Given the description of an element on the screen output the (x, y) to click on. 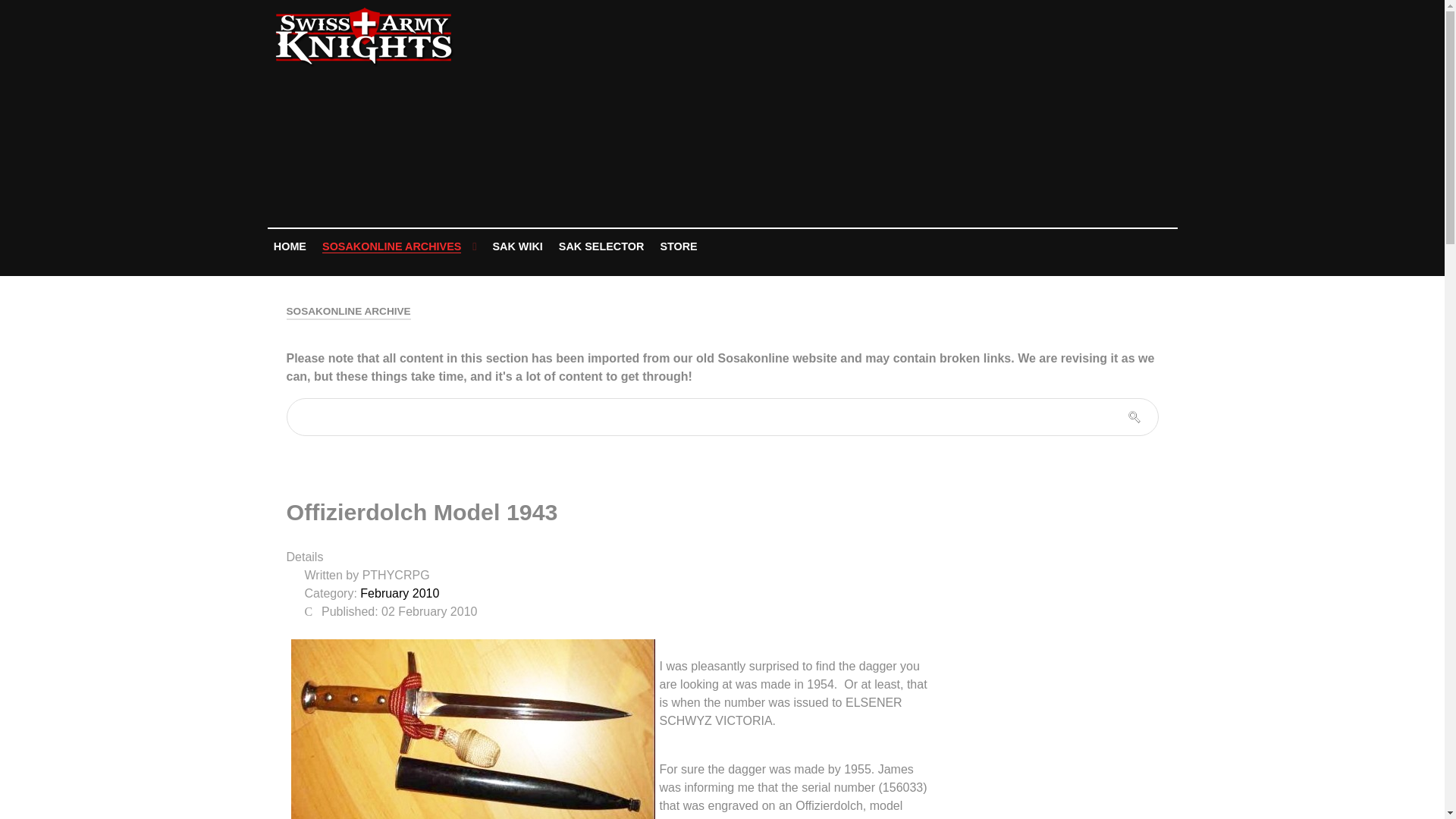
Advertisement (872, 113)
HOME (289, 246)
SOSAKONLINE ARCHIVES (399, 246)
Advertisement (1063, 652)
